Given the description of an element on the screen output the (x, y) to click on. 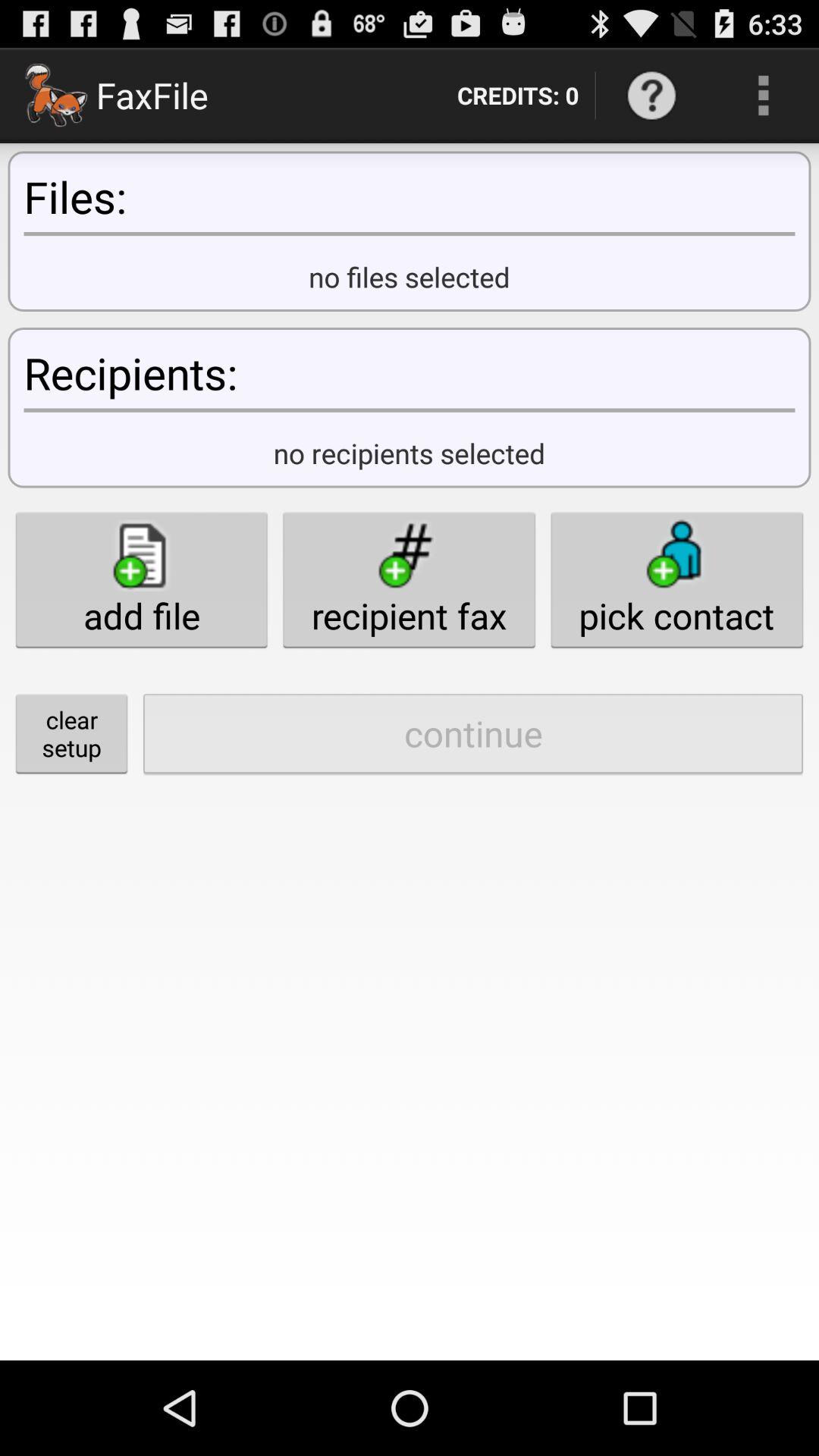
flip to the pick contact icon (677, 579)
